Given the description of an element on the screen output the (x, y) to click on. 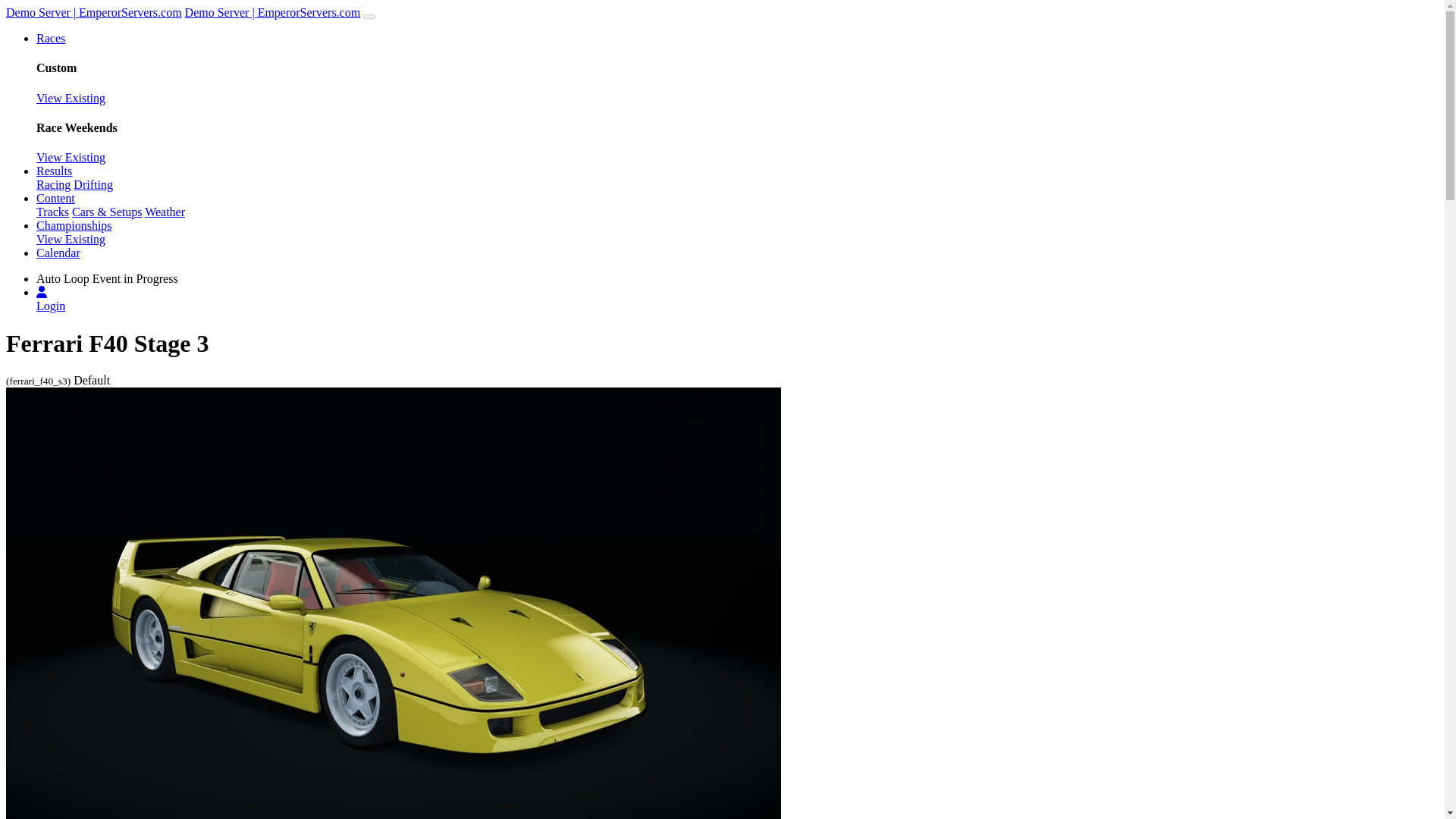
Tracks (52, 211)
Drifting (93, 184)
Results (53, 170)
Weather (164, 211)
Races (50, 38)
View Existing (70, 97)
Racing (52, 184)
Content (55, 197)
Login (50, 305)
Calendar (58, 252)
View Existing (70, 156)
View Existing (70, 238)
Championships (74, 225)
